Given the description of an element on the screen output the (x, y) to click on. 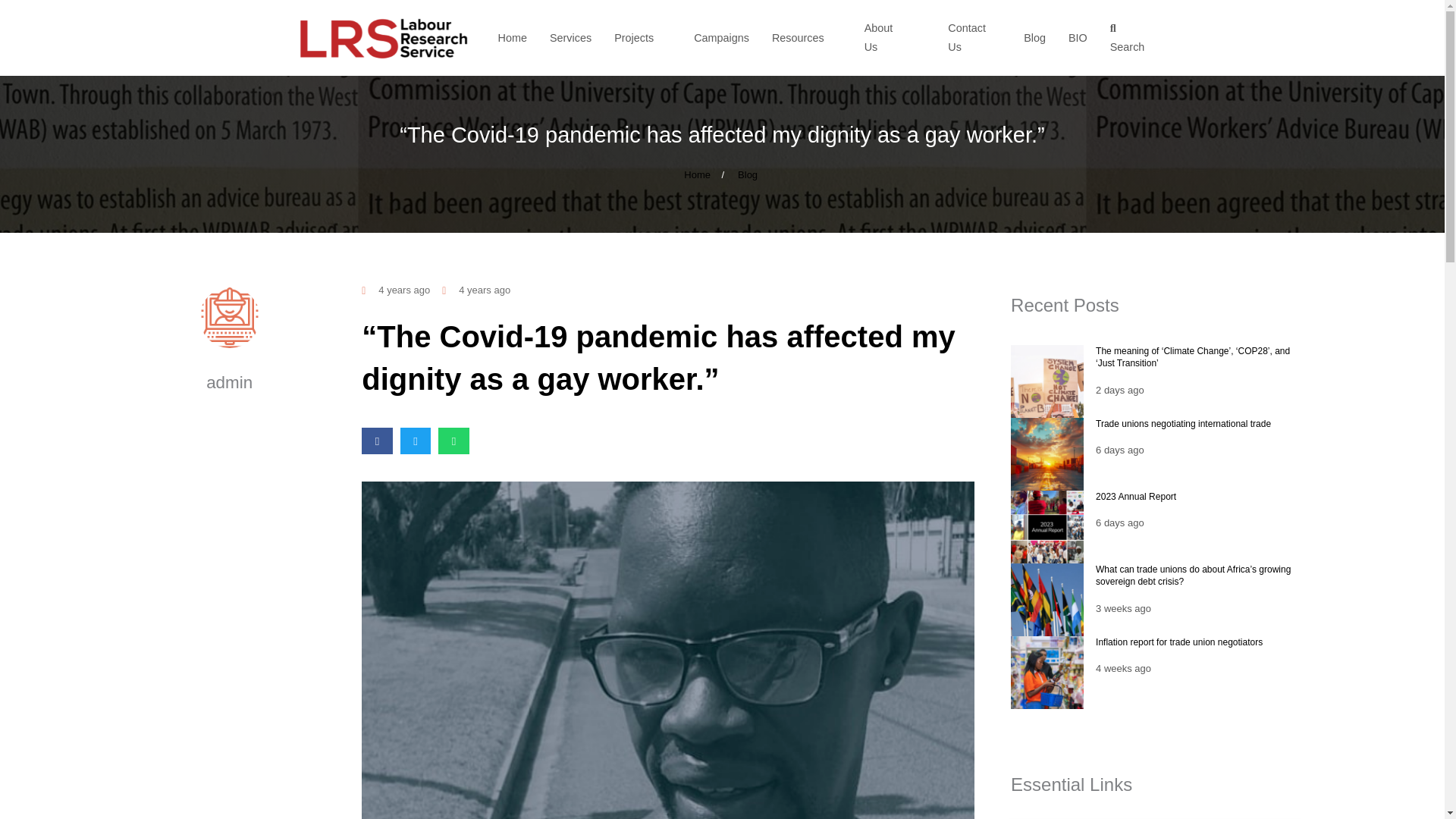
Contact Us (974, 37)
Blog (747, 174)
Home (697, 174)
Resources (806, 37)
Search (1131, 37)
Projects (642, 37)
Blog (1034, 37)
Home (512, 37)
Campaigns (721, 37)
Services (570, 37)
BIO (1077, 37)
About Us (895, 37)
